Given the description of an element on the screen output the (x, y) to click on. 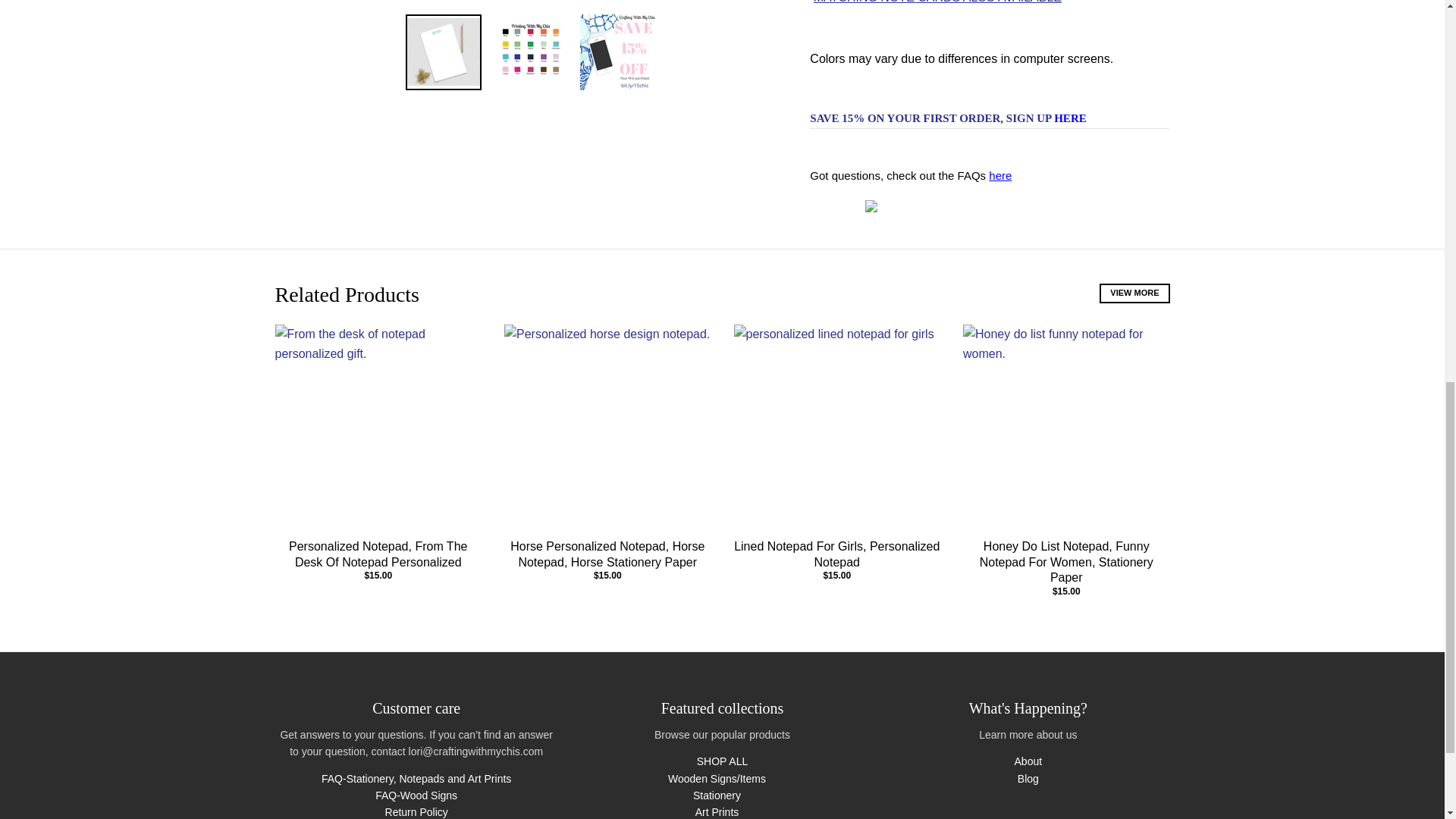
Personalized Stationery, Notepads and Art Prints FAQs (999, 174)
NOTE CARDS (937, 2)
